Given the description of an element on the screen output the (x, y) to click on. 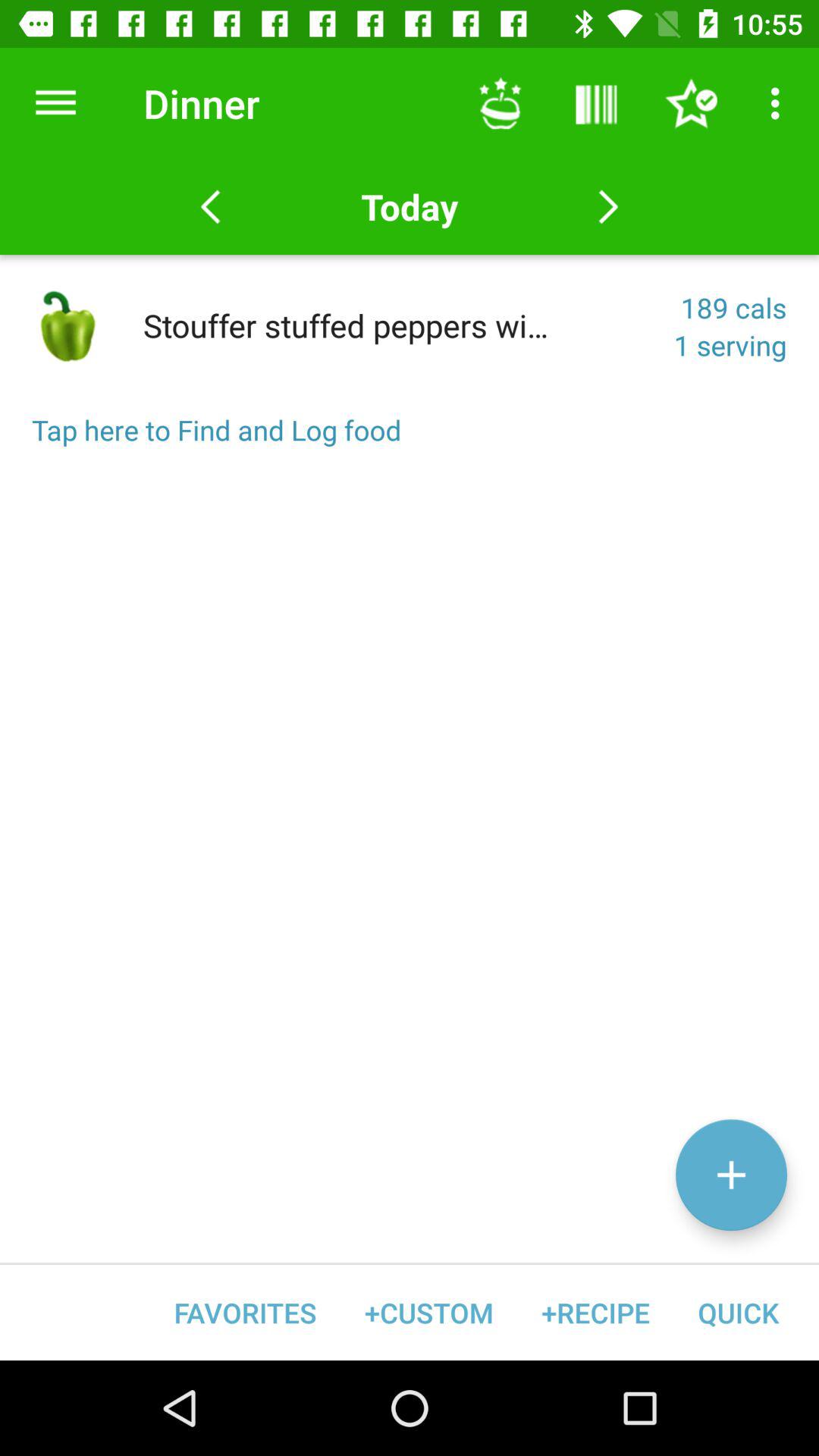
open icon to the right of the +recipe (738, 1312)
